Given the description of an element on the screen output the (x, y) to click on. 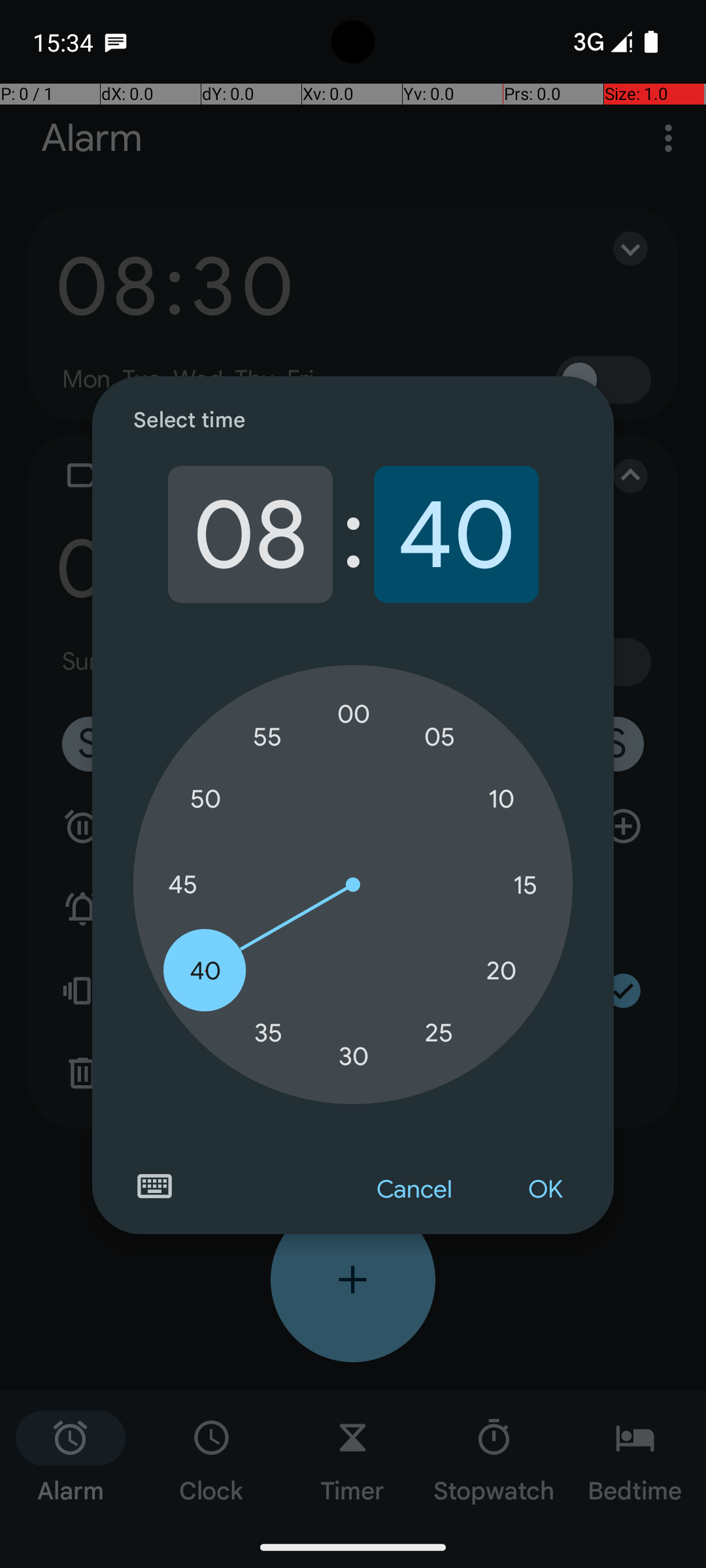
08 Element type: android.view.View (250, 534)
40 Element type: android.view.View (455, 534)
Switch to text input mode for the time input. Element type: android.widget.Button (154, 1186)
Cancel Element type: android.widget.Button (414, 1189)
OK Element type: android.widget.Button (545, 1189)
55 Element type: android.widget.TextView (267, 736)
00 Element type: android.widget.TextView (353, 713)
50 Element type: android.widget.TextView (205, 798)
05 Element type: android.widget.TextView (439, 736)
10 Element type: android.widget.TextView (501, 798)
45 Element type: android.widget.TextView (182, 884)
15 Element type: android.widget.TextView (524, 885)
35 Element type: android.widget.TextView (267, 1032)
30 Element type: android.widget.TextView (353, 1056)
25 Element type: android.widget.TextView (438, 1032)
20 Element type: android.widget.TextView (501, 970)
SMS Messenger notification: Petar Gonzalez Element type: android.widget.ImageView (115, 41)
